Given the description of an element on the screen output the (x, y) to click on. 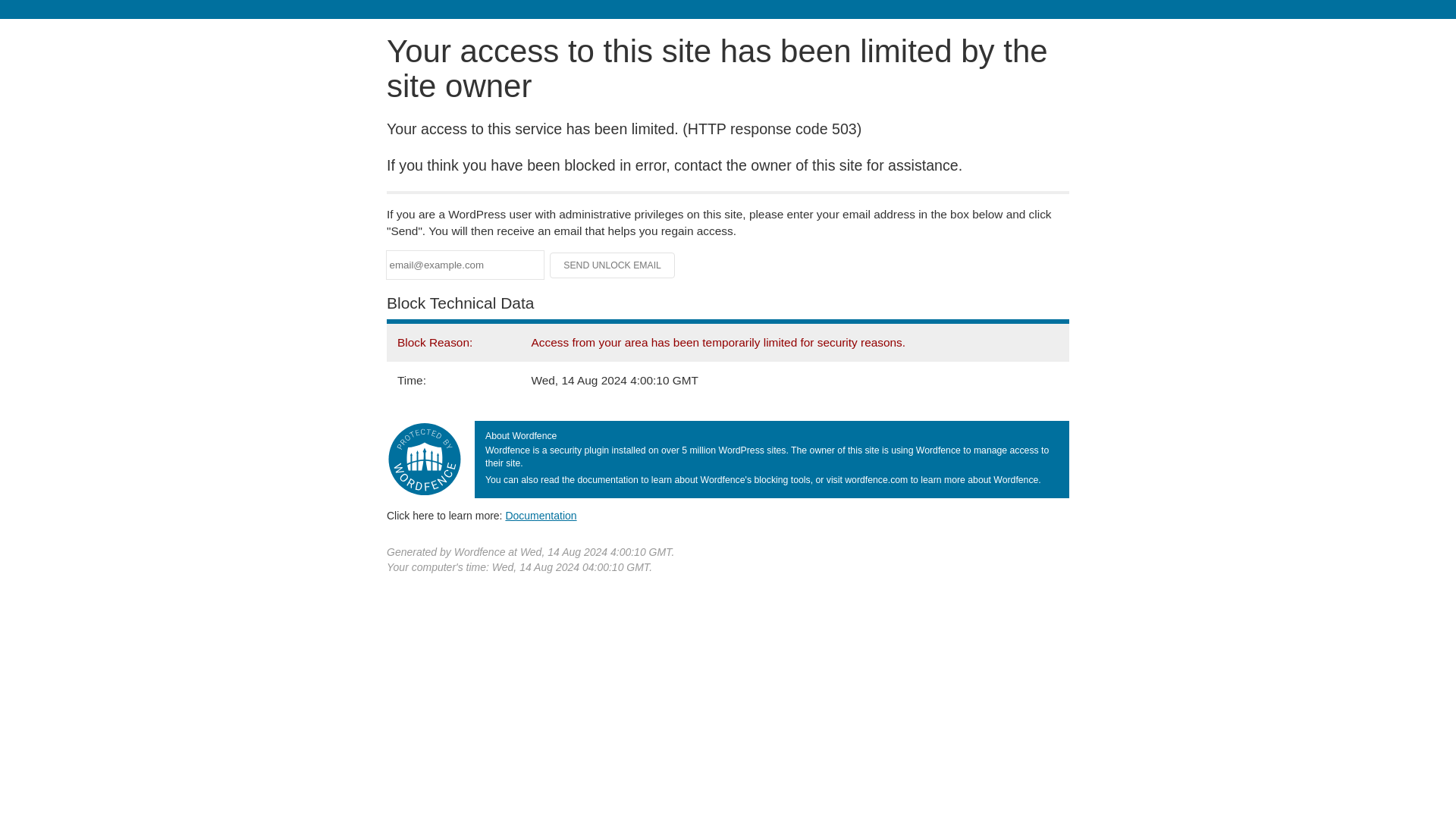
Documentation (540, 515)
Send Unlock Email (612, 265)
Send Unlock Email (612, 265)
